Given the description of an element on the screen output the (x, y) to click on. 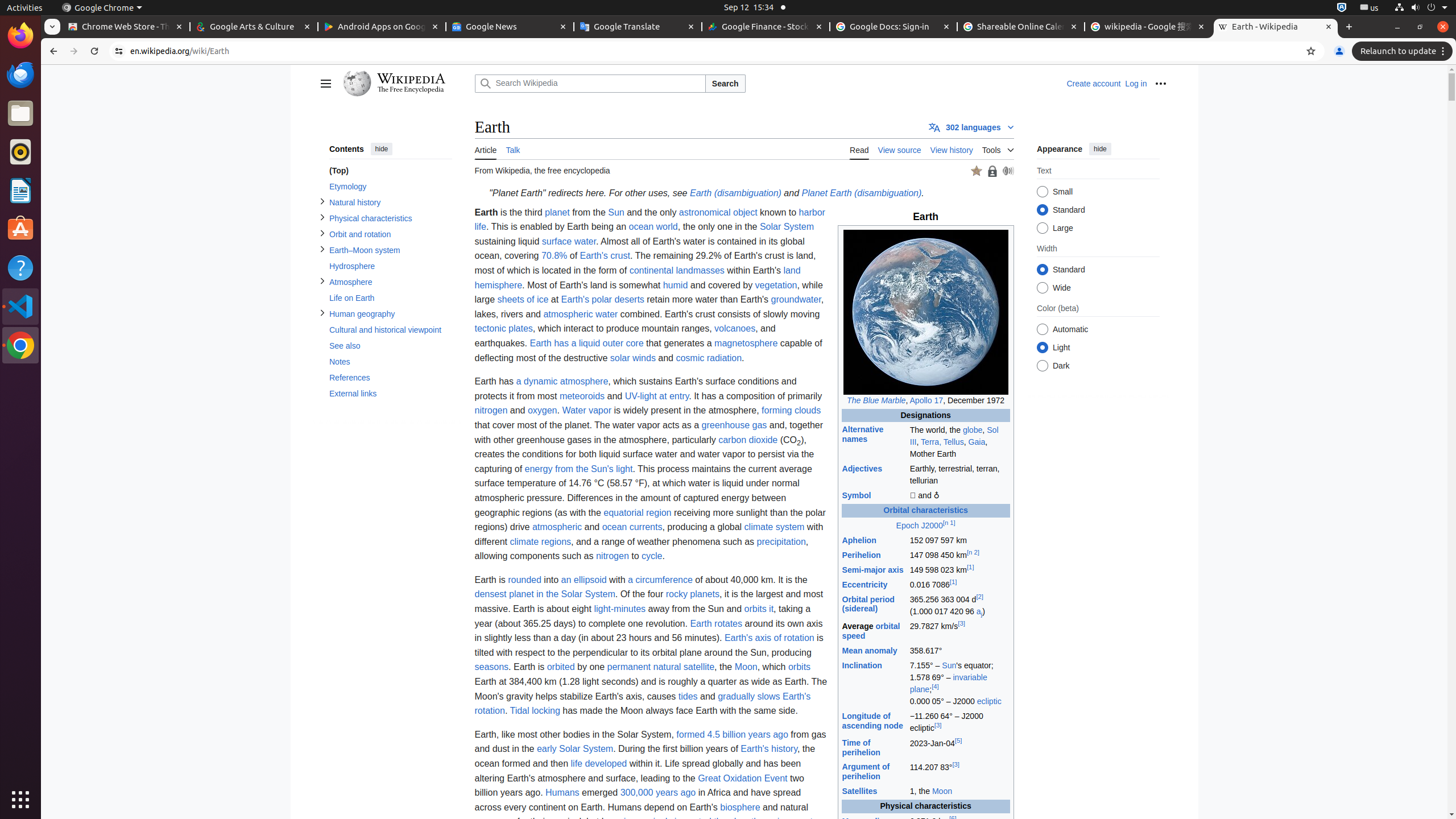
Adjectives Element type: link (861, 468)
Dark Element type: radio-button (1042, 365)
natural satellite Element type: link (683, 667)
harbor life Element type: link (649, 219)
tectonic plates Element type: link (503, 328)
